Given the description of an element on the screen output the (x, y) to click on. 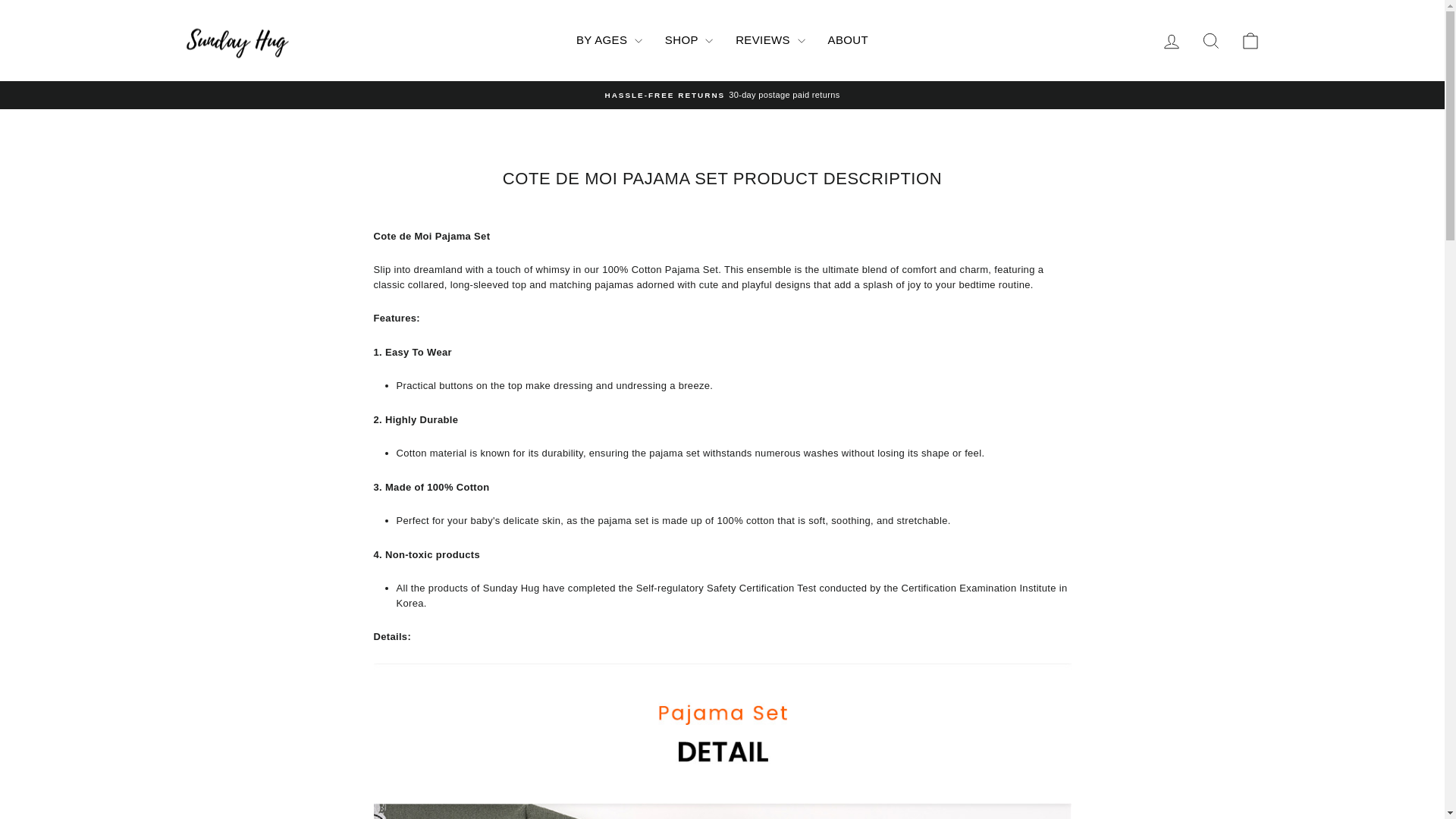
ACCOUNT (1171, 40)
ICON-SEARCH (1170, 40)
ABOUT (1210, 40)
ICON-BAG-MINIMAL (1210, 40)
